Given the description of an element on the screen output the (x, y) to click on. 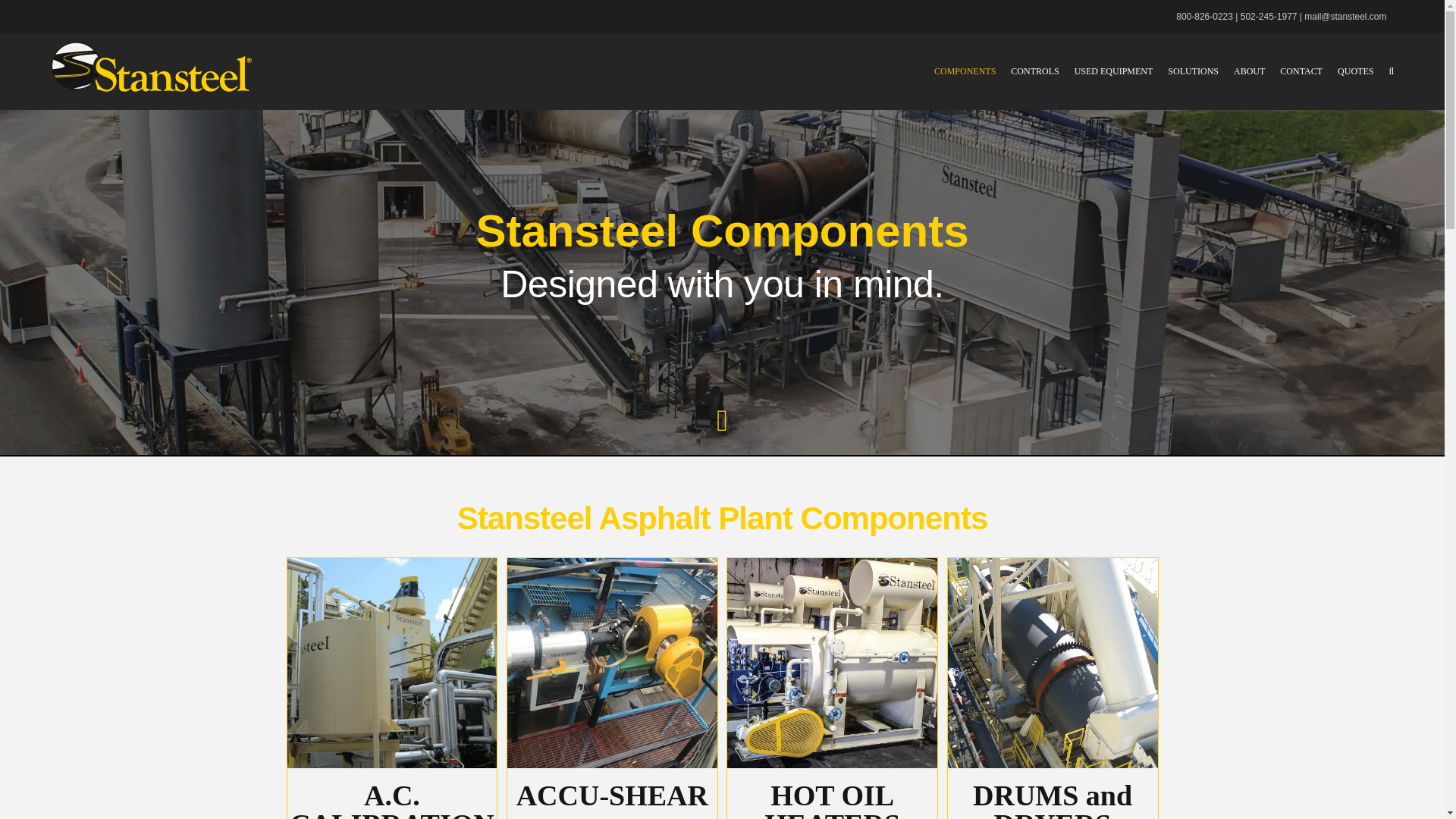
USED EQUIPMENT (1113, 70)
502-245-1977 (1268, 16)
800-826-0223 (1204, 16)
